Given the description of an element on the screen output the (x, y) to click on. 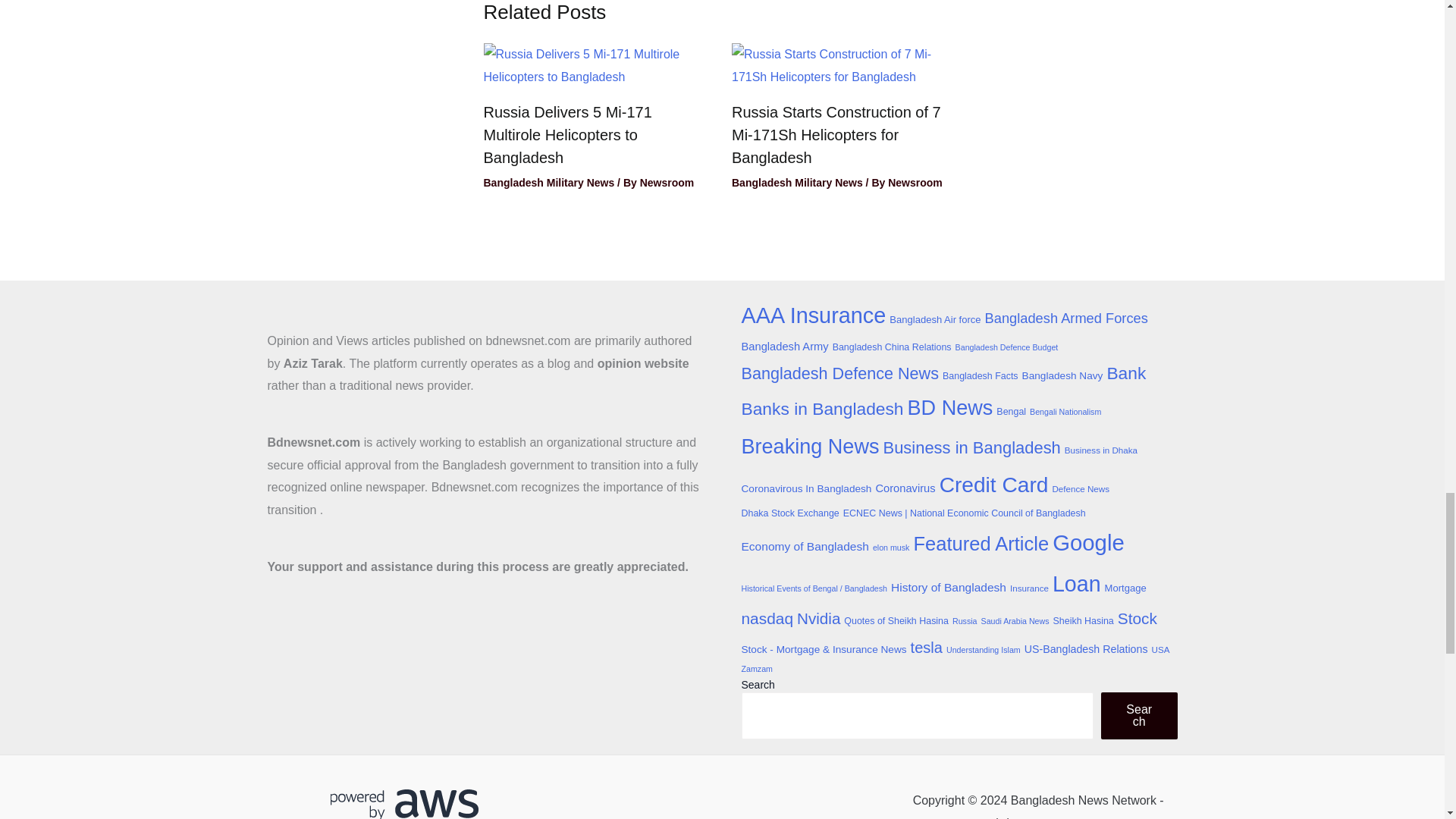
View all posts by Newsroom (915, 182)
Bangladesh Military News (548, 182)
Russia Delivers 5 Mi-171 Multirole Helicopters to Bangladesh (567, 135)
View all posts by Newsroom (667, 182)
Newsroom (667, 182)
